Given the description of an element on the screen output the (x, y) to click on. 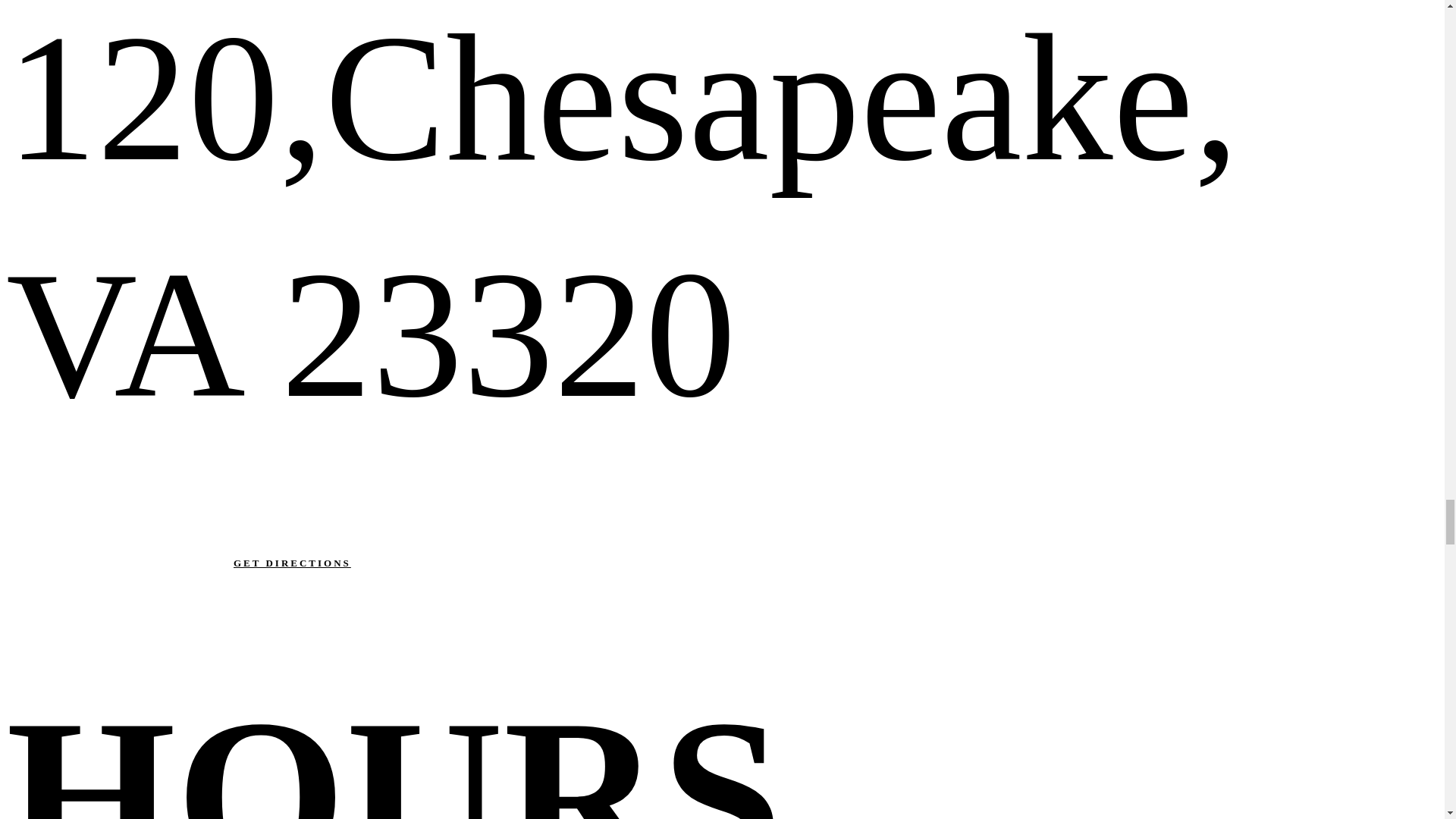
GET DIRECTIONS (177, 562)
